Given the description of an element on the screen output the (x, y) to click on. 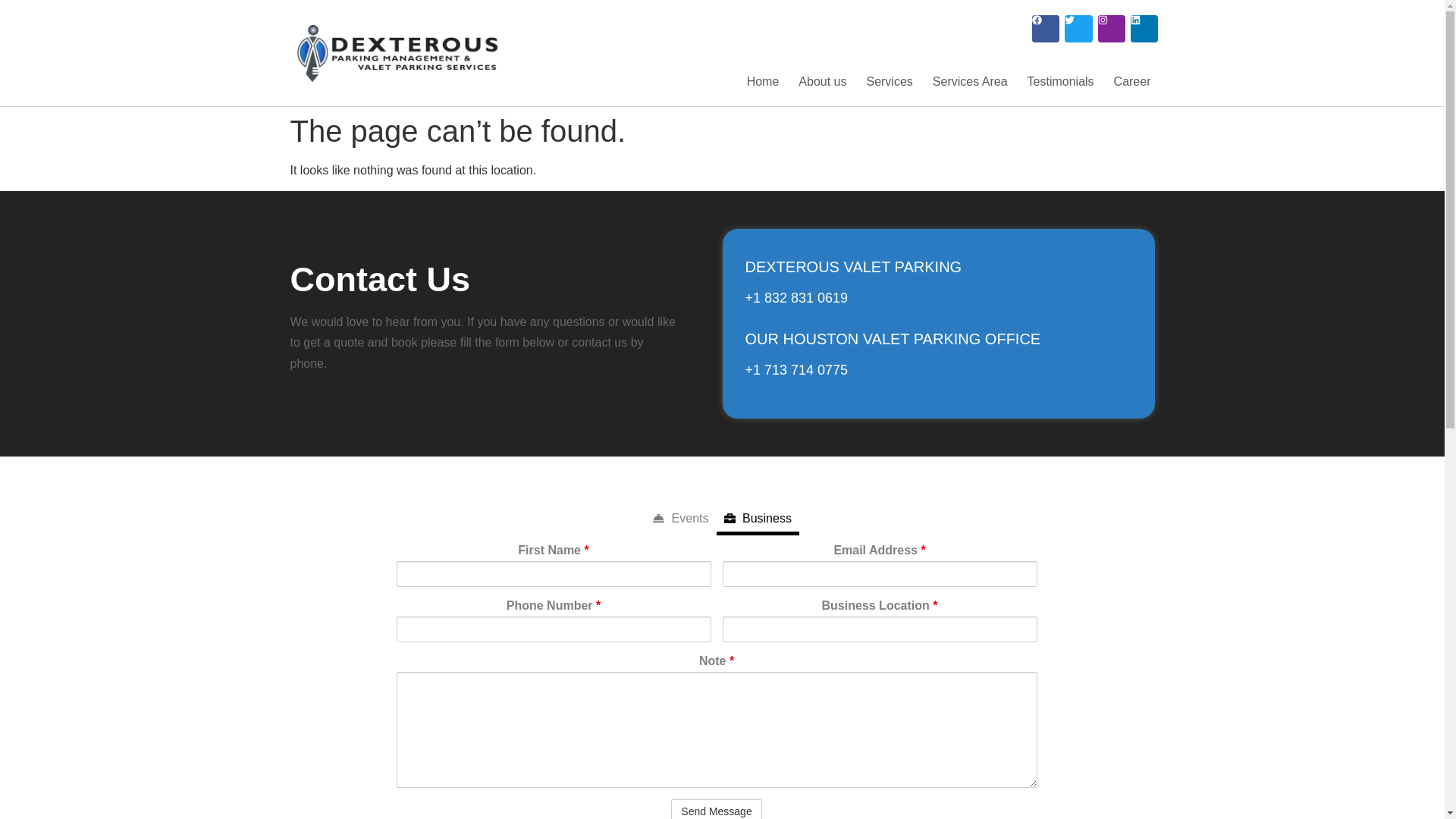
Home (763, 81)
Testimonials (1061, 81)
Services Area (969, 81)
Services (889, 81)
About us (821, 81)
Send Message (716, 809)
Career (1132, 81)
